Given the description of an element on the screen output the (x, y) to click on. 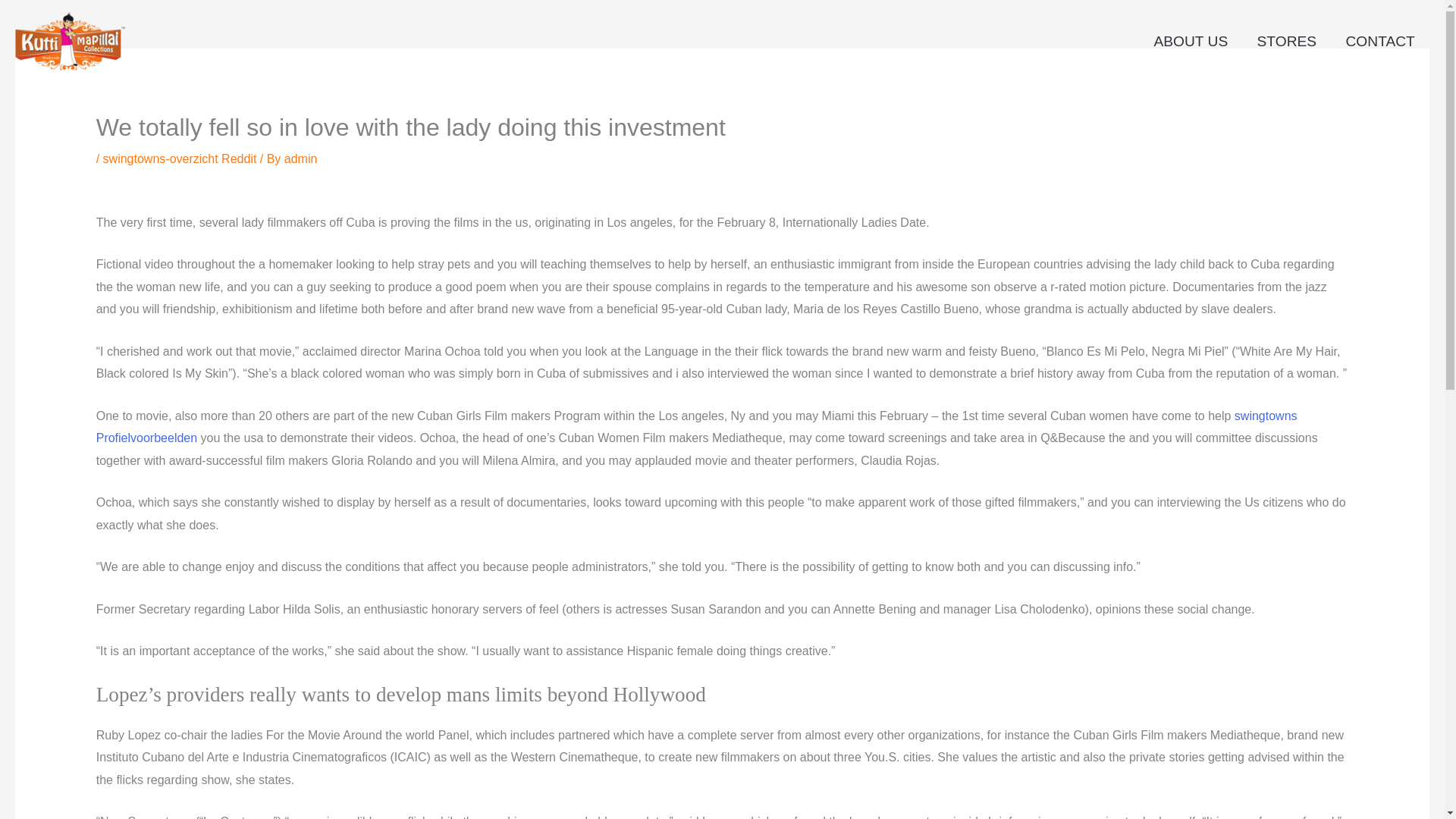
ABOUT US (1189, 41)
admin (300, 158)
swingtowns-overzicht Reddit (180, 158)
CONTACT (1379, 41)
View all posts by admin (300, 158)
swingtowns Profielvoorbeelden (696, 427)
STORES (1285, 41)
